Given the description of an element on the screen output the (x, y) to click on. 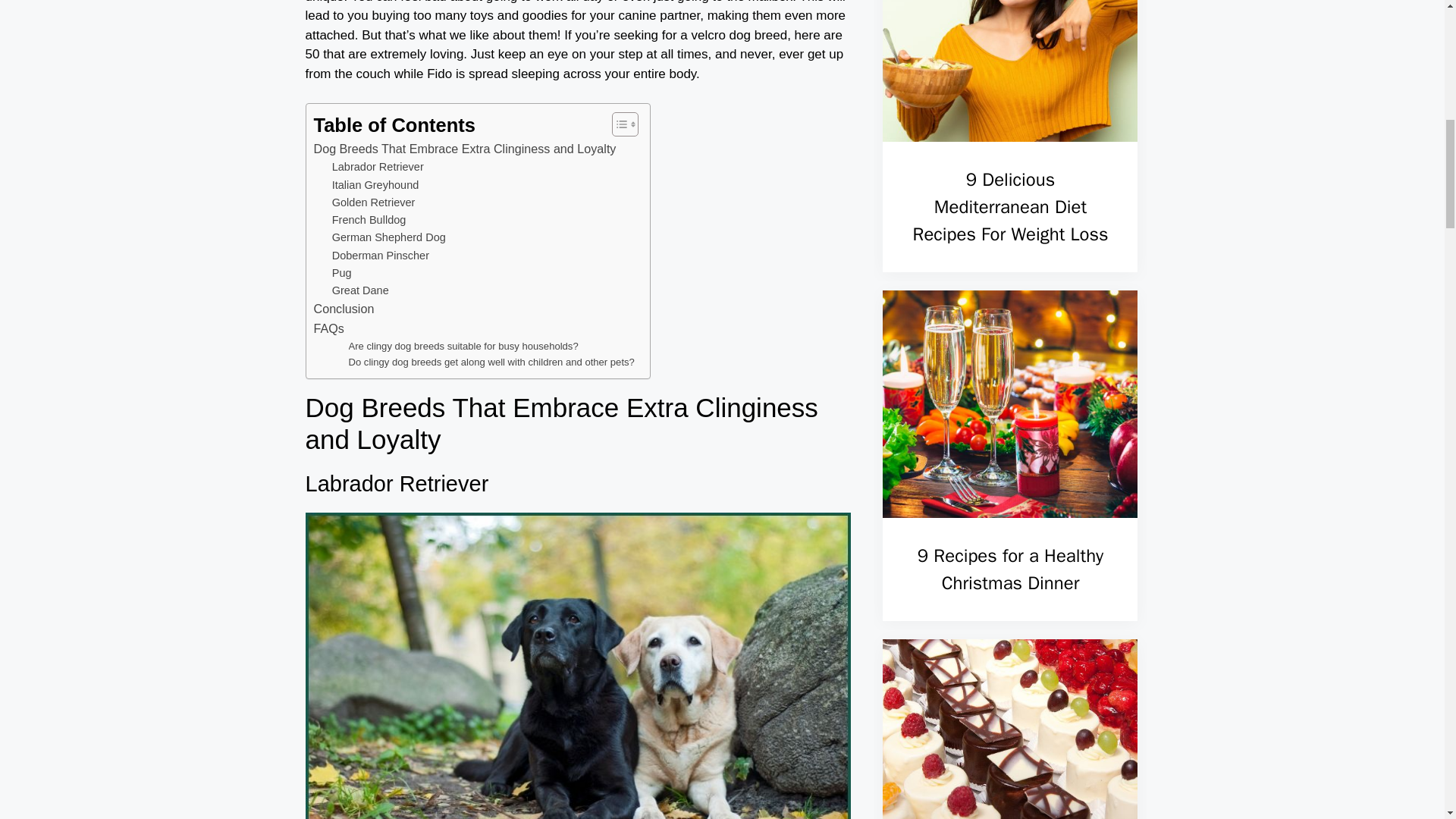
FAQs (328, 329)
Great Dane (359, 290)
Conclusion (344, 309)
Dog Breeds That Embrace Extra Clinginess and Loyalty (464, 148)
Golden Retriever (372, 202)
Labrador Retriever (377, 167)
German Shepherd Dog (388, 237)
Golden Retriever (372, 202)
Pug (341, 272)
Italian Greyhound (375, 185)
FAQs (328, 329)
Dog Breeds That Embrace Extra Clinginess and Loyalty (464, 148)
Italian Greyhound (375, 185)
